Given the description of an element on the screen output the (x, y) to click on. 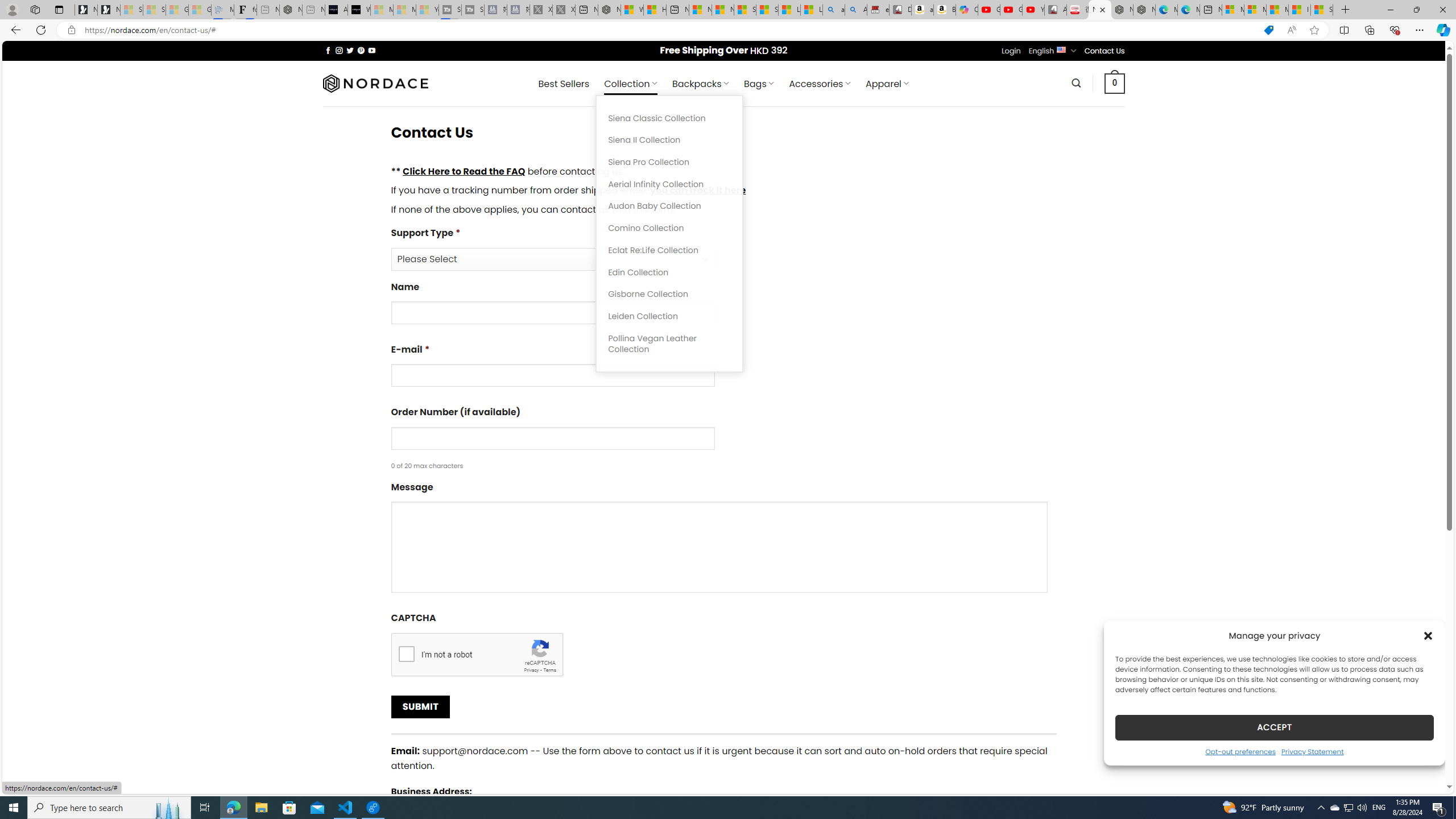
amazon.in/dp/B0CX59H5W7/?tag=gsmcom05-21 (923, 9)
  Best Sellers (563, 83)
Support Type* (723, 248)
Siena II Collection (669, 140)
Click Here to Read the FAQ (463, 170)
Microsoft Start Sports - Sleeping (381, 9)
